Given the description of an element on the screen output the (x, y) to click on. 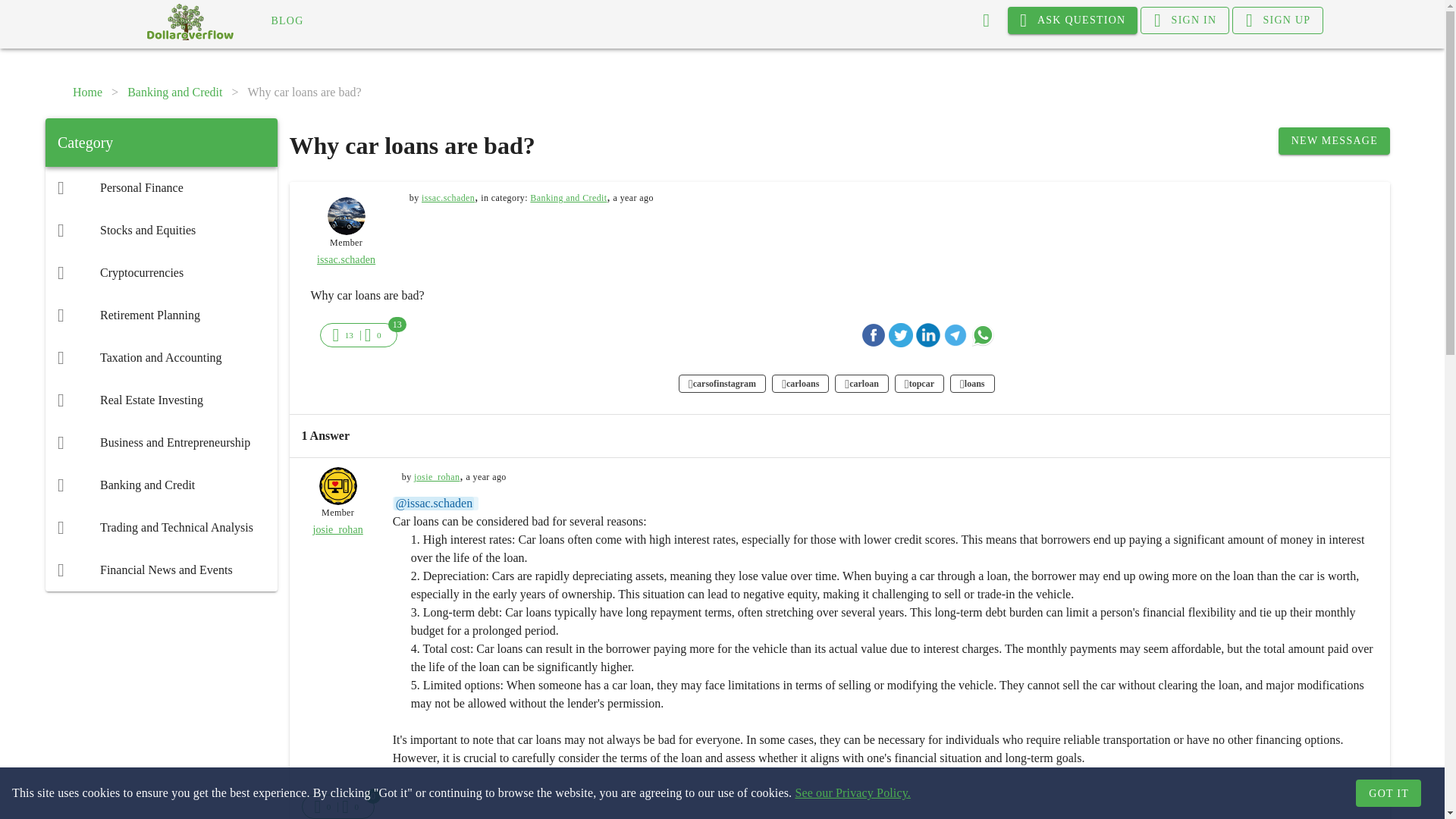
Whatsapp (982, 334)
issac.schaden (448, 197)
Banking and Credit (175, 92)
Financial News and Events (161, 569)
Home (86, 92)
Personal Finance (161, 188)
ASK QUESTION (1072, 20)
Twitter (900, 334)
Taxation and Accounting (161, 357)
Facebook (873, 334)
Retirement Planning (161, 315)
Telegram (955, 334)
Banking and Credit (161, 485)
Real Estate Investing (161, 400)
LinkedIn (927, 334)
